Given the description of an element on the screen output the (x, y) to click on. 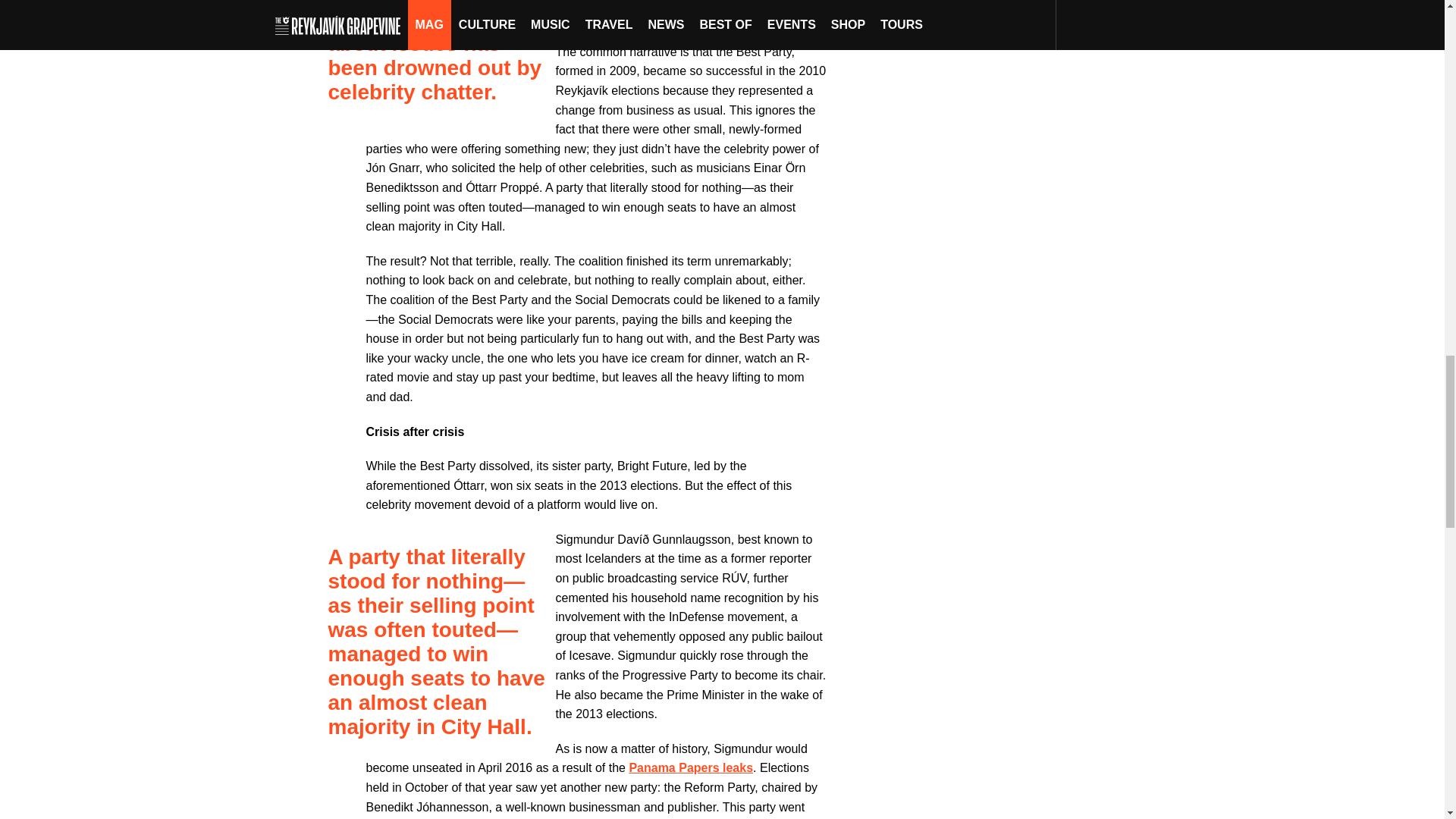
Panama Papers leaks (690, 767)
